Given the description of an element on the screen output the (x, y) to click on. 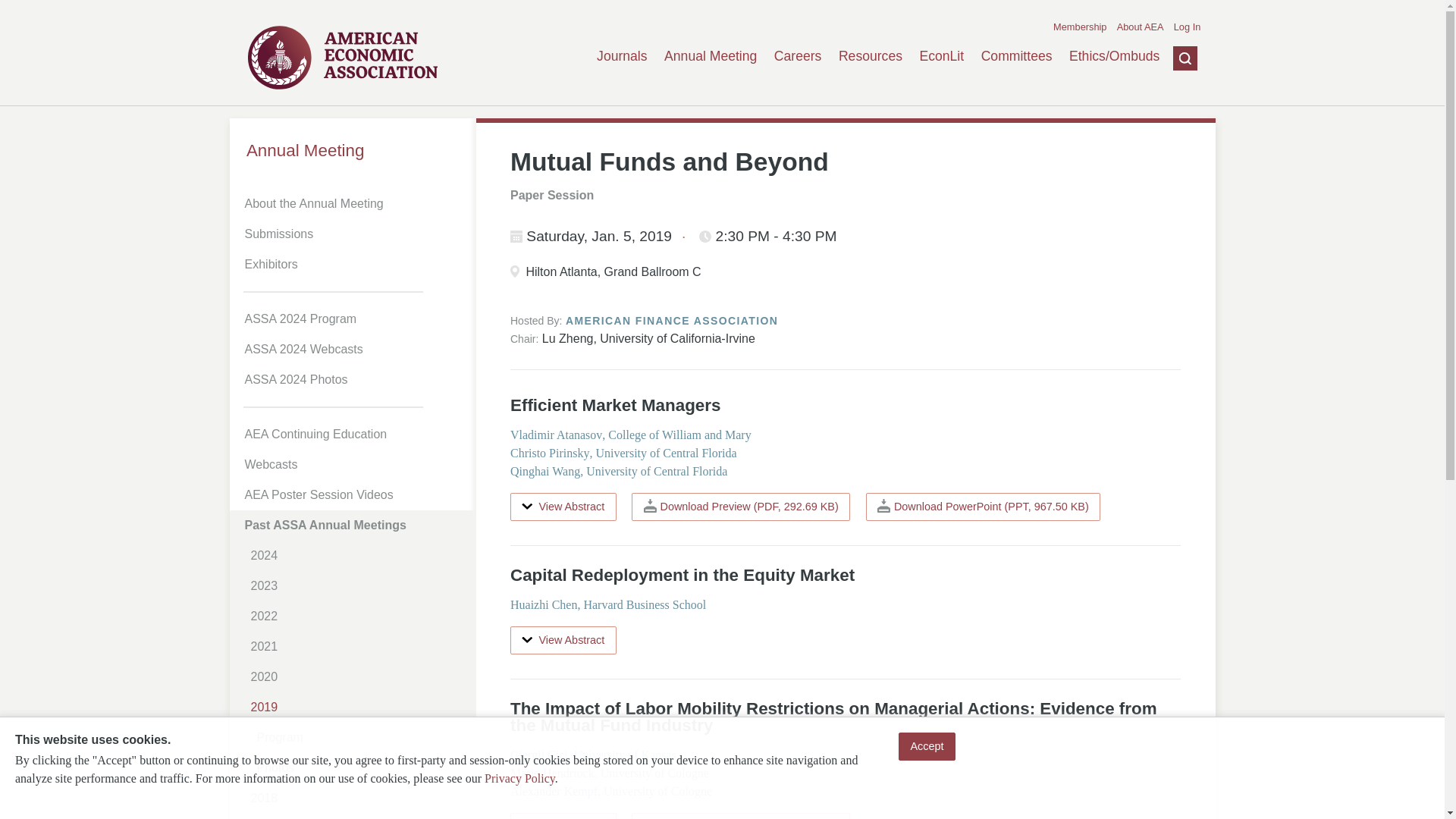
Past ASSA Annual Meetings (355, 525)
About AEA (1139, 26)
Journals (621, 55)
Annual Meeting (352, 150)
Submissions (355, 234)
Search (1173, 131)
Accept (926, 746)
Committees (1016, 55)
Careers (798, 55)
ASSA 2024 Program (355, 318)
AEA Continuing Education (355, 434)
EconLit (940, 55)
ASSA 2024 Webcasts (355, 349)
2024 (358, 555)
View Abstract (563, 816)
